Given the description of an element on the screen output the (x, y) to click on. 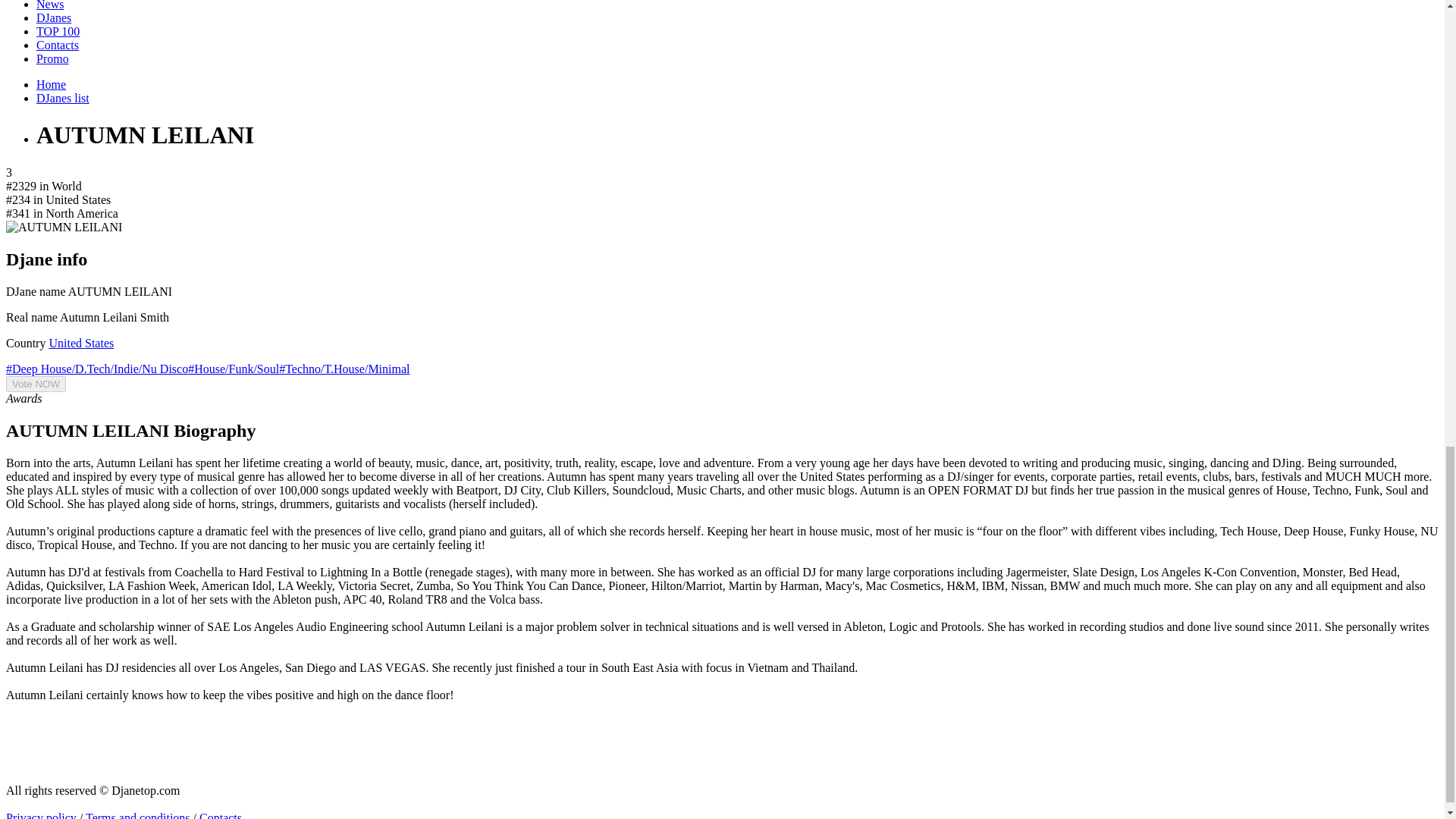
TOP 100 (58, 31)
Promo (52, 58)
DJanes (53, 17)
United States (80, 342)
Contacts (57, 44)
DJanes (53, 17)
Home (50, 83)
Contacts (57, 44)
Promo (52, 58)
DJanes list (62, 97)
TOP 100 (58, 31)
News (50, 5)
News (50, 5)
